Given the description of an element on the screen output the (x, y) to click on. 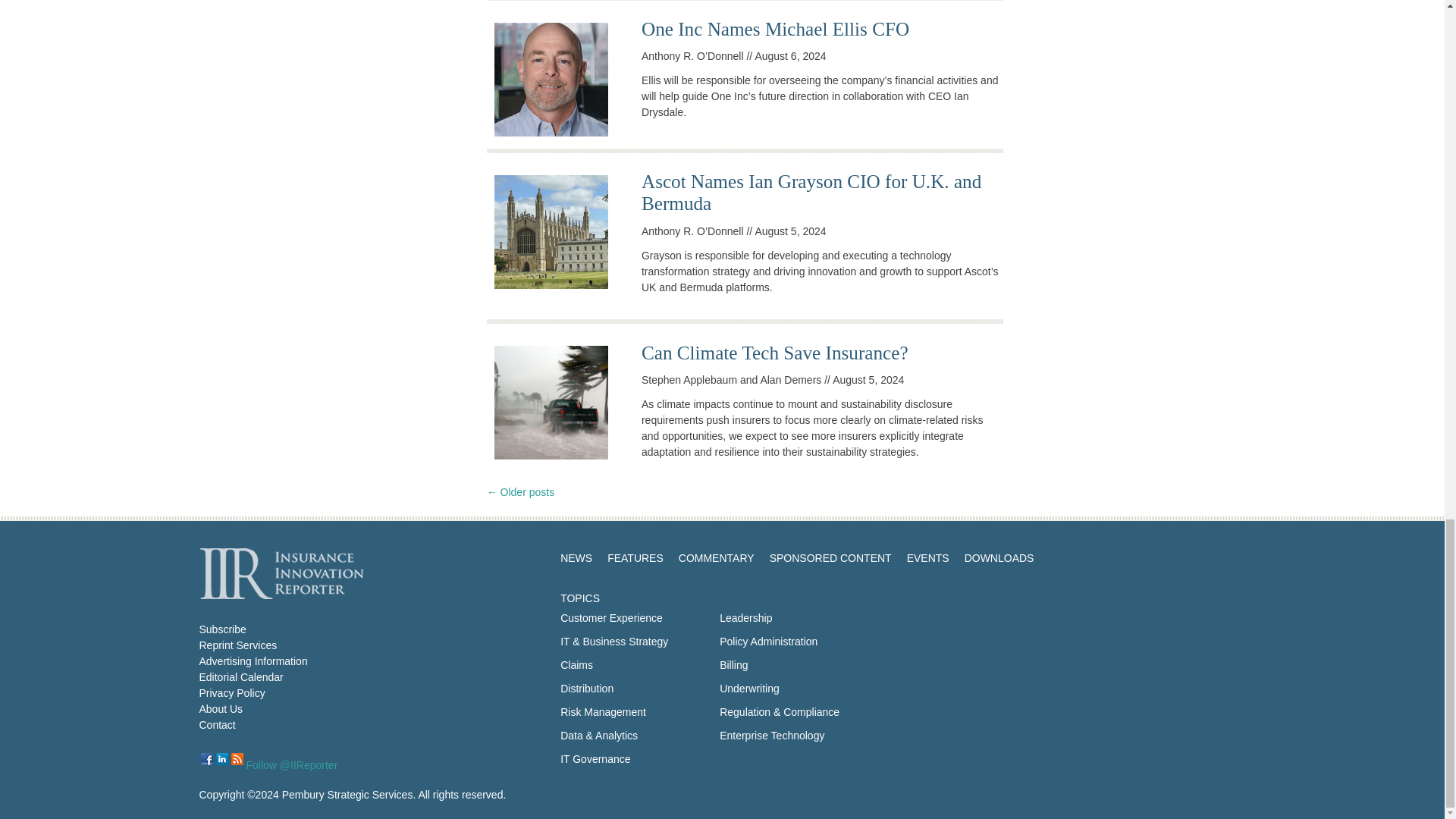
Ascot Names Ian Grayson CIO for U.K. and Bermuda (811, 192)
One Inc Names Michael Ellis CFO (775, 28)
Subscribe (222, 629)
Permalink to Can Climate Tech Save Insurance? (775, 353)
Friend me on Facebook (206, 758)
Permalink to One Inc Names Michael Ellis CFO (775, 28)
Can Climate Tech Save Insurance? (775, 353)
